Given the description of an element on the screen output the (x, y) to click on. 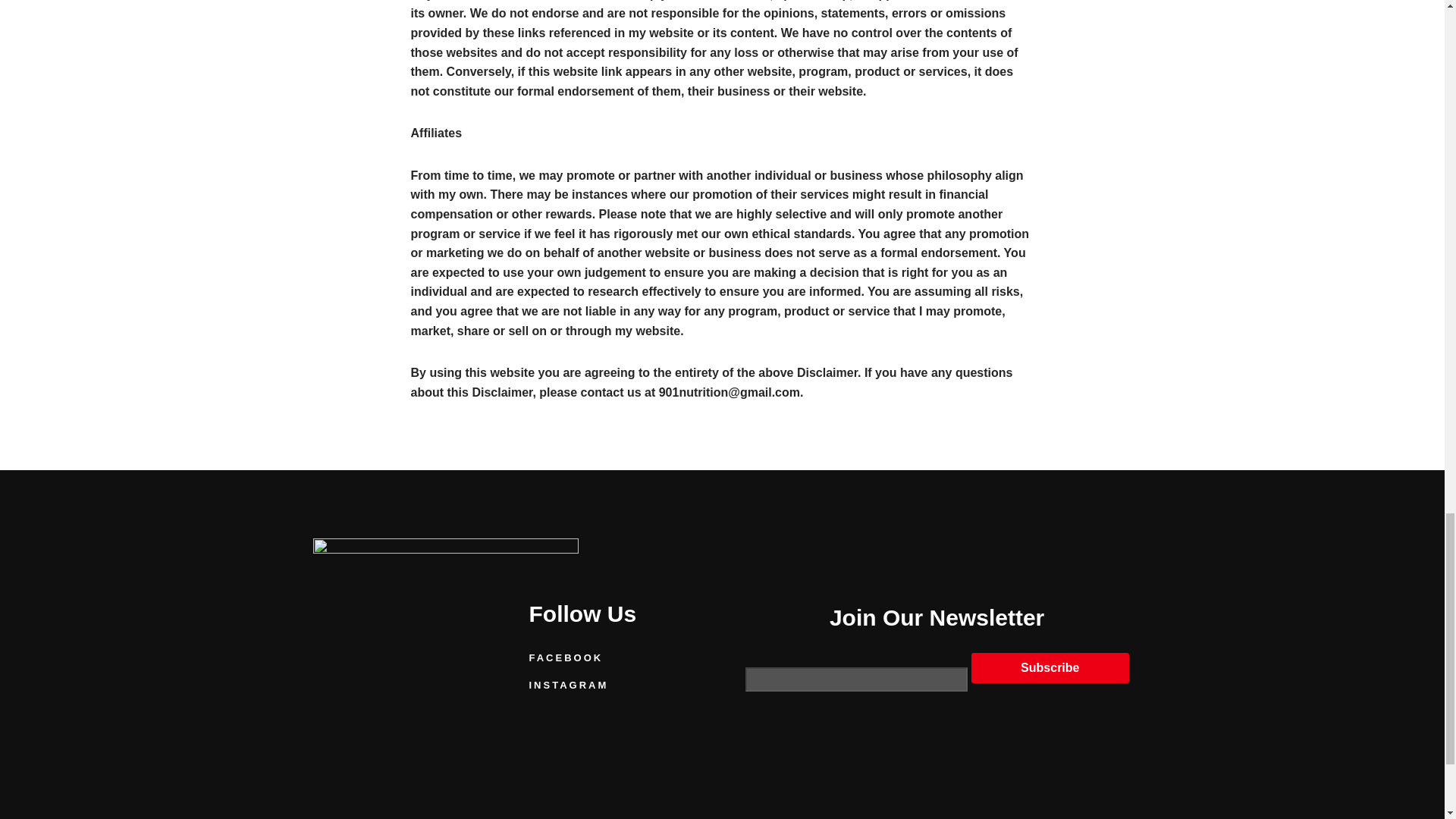
FACEBOOK (614, 658)
Subscribe (1050, 667)
INSTAGRAM (614, 685)
